Given the description of an element on the screen output the (x, y) to click on. 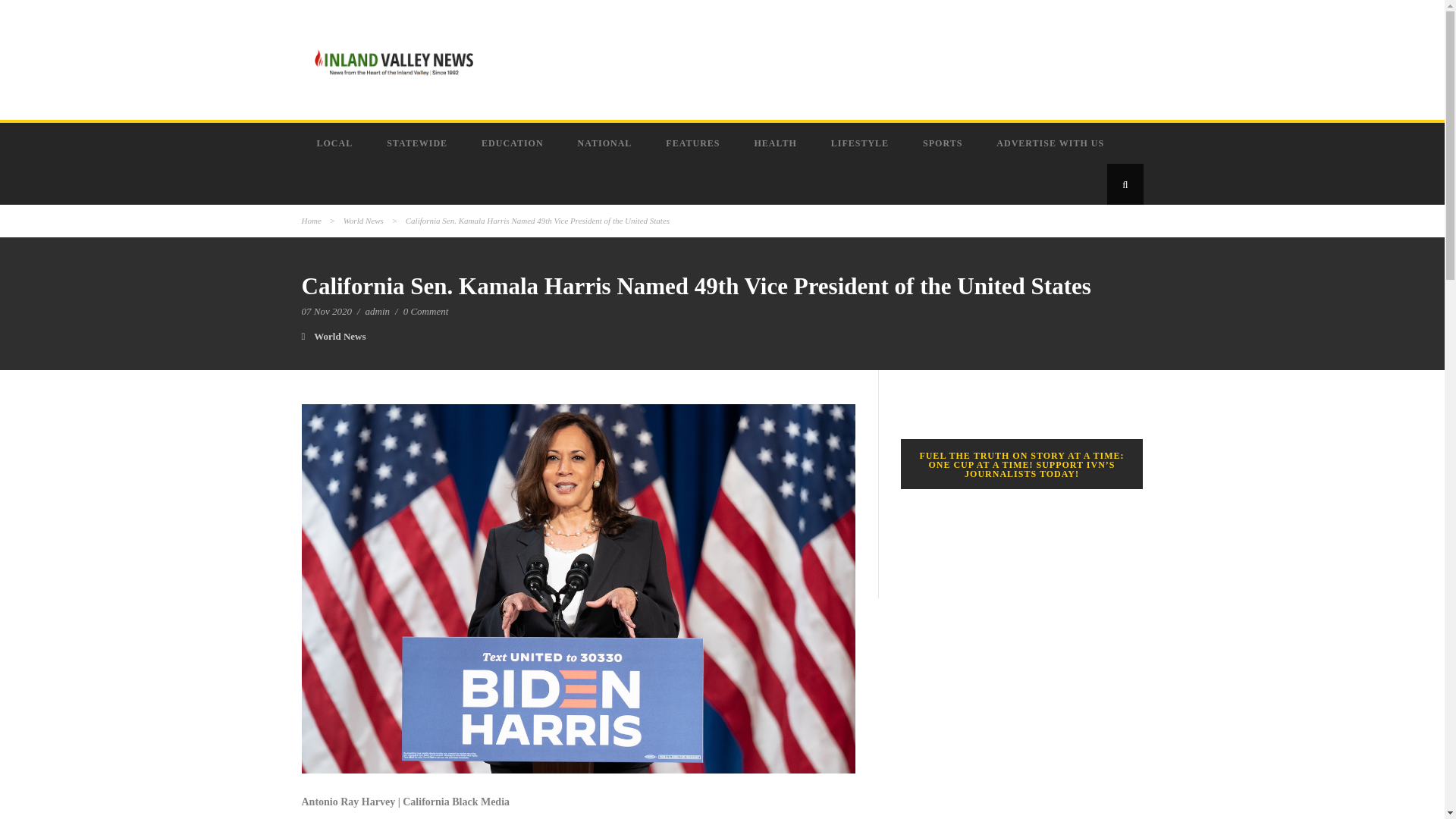
FEATURES (694, 142)
NATIONAL (606, 142)
Posts by admin (377, 310)
07 Nov 2020 (326, 310)
SPORTS (944, 142)
LOCAL (336, 142)
World News (339, 336)
ADVERTISE WITH US (1051, 142)
0 Comment (425, 310)
STATEWIDE (418, 142)
